Given the description of an element on the screen output the (x, y) to click on. 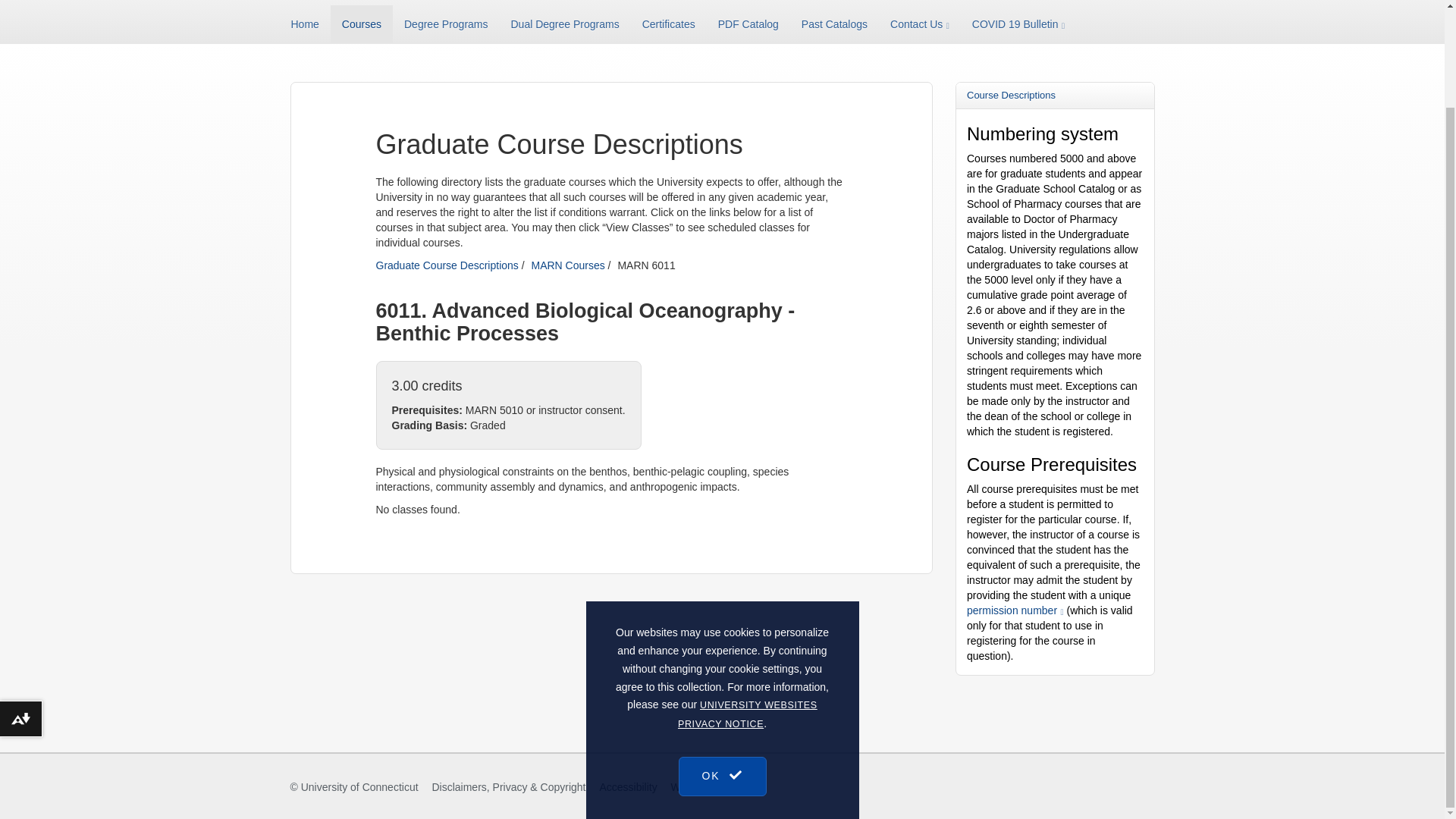
COVID 19 Bulletin (1017, 23)
University of Connecticut (360, 786)
Home (310, 23)
Dual Degree Programs (564, 23)
MARN Courses (567, 265)
PDF Catalog (748, 23)
permission number (1015, 610)
Contact Us (919, 23)
Degree Programs (446, 23)
